Given the description of an element on the screen output the (x, y) to click on. 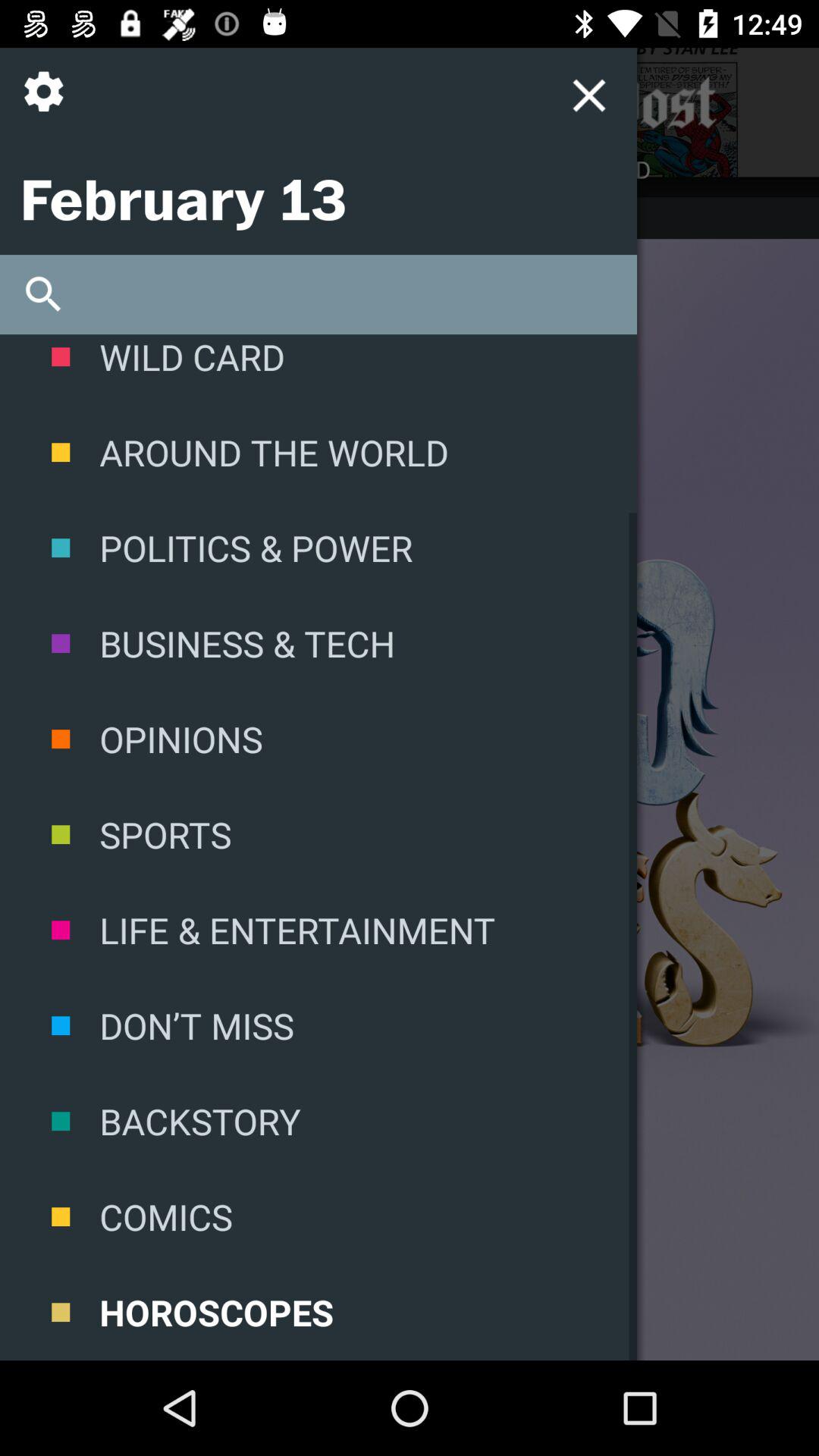
close settings menu (589, 95)
